Given the description of an element on the screen output the (x, y) to click on. 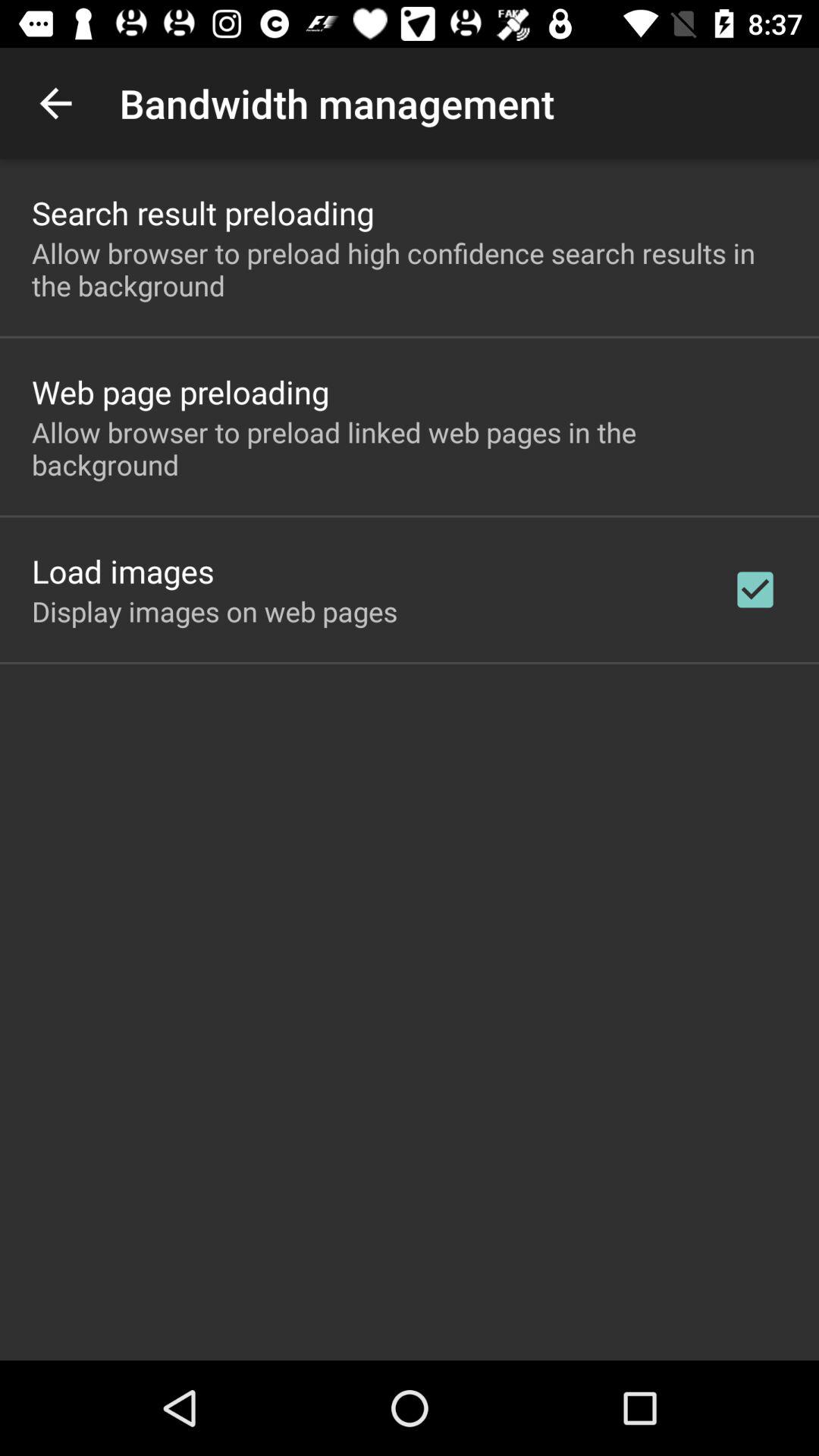
turn on icon below the load images item (214, 611)
